Given the description of an element on the screen output the (x, y) to click on. 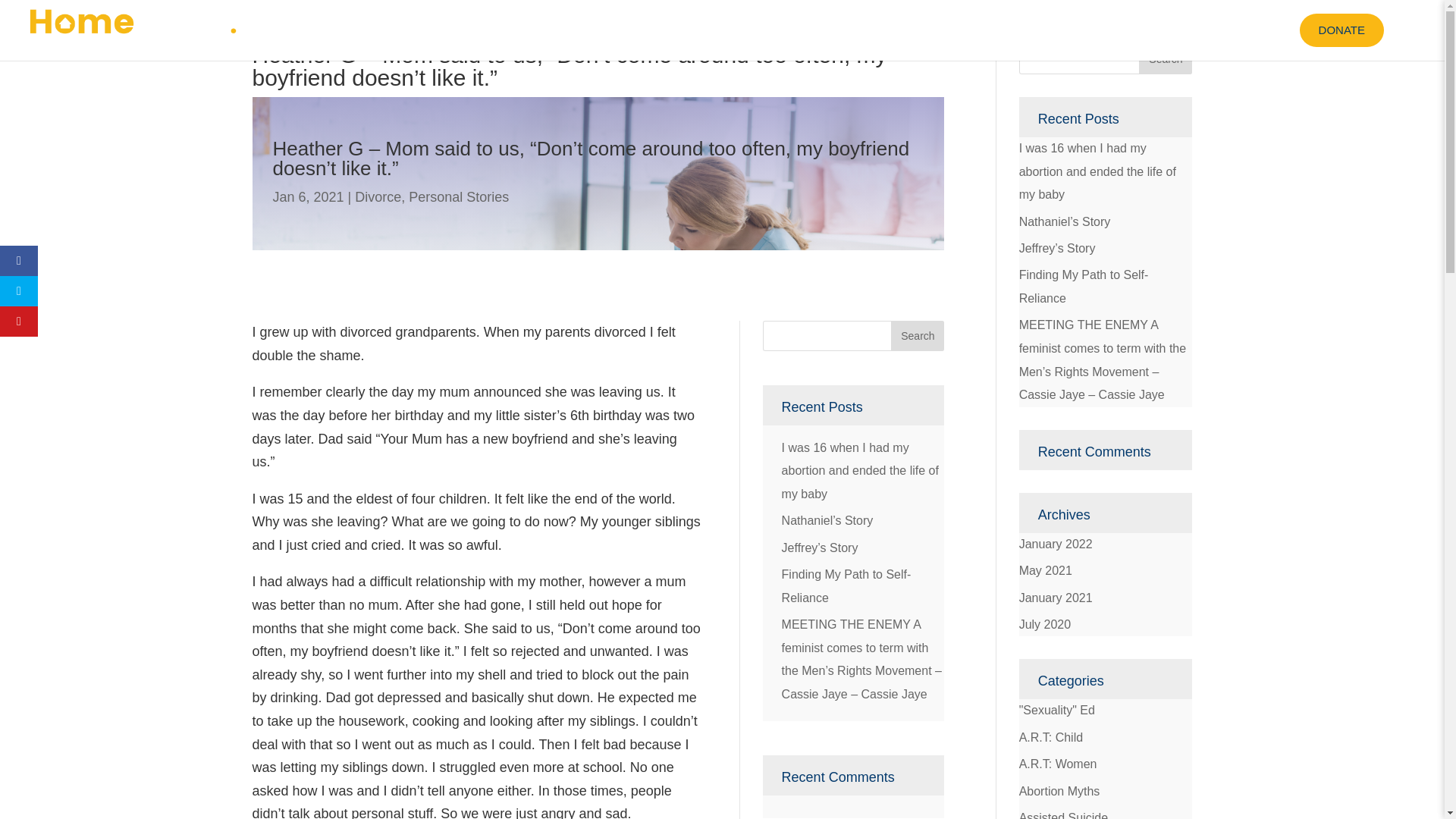
WHO WE ARE (1083, 30)
JOIN OR HOST (956, 30)
HOW IT WORKS (730, 30)
RESOURCES (1213, 30)
Search (917, 336)
TOPICS (845, 30)
Search (1165, 59)
